Given the description of an element on the screen output the (x, y) to click on. 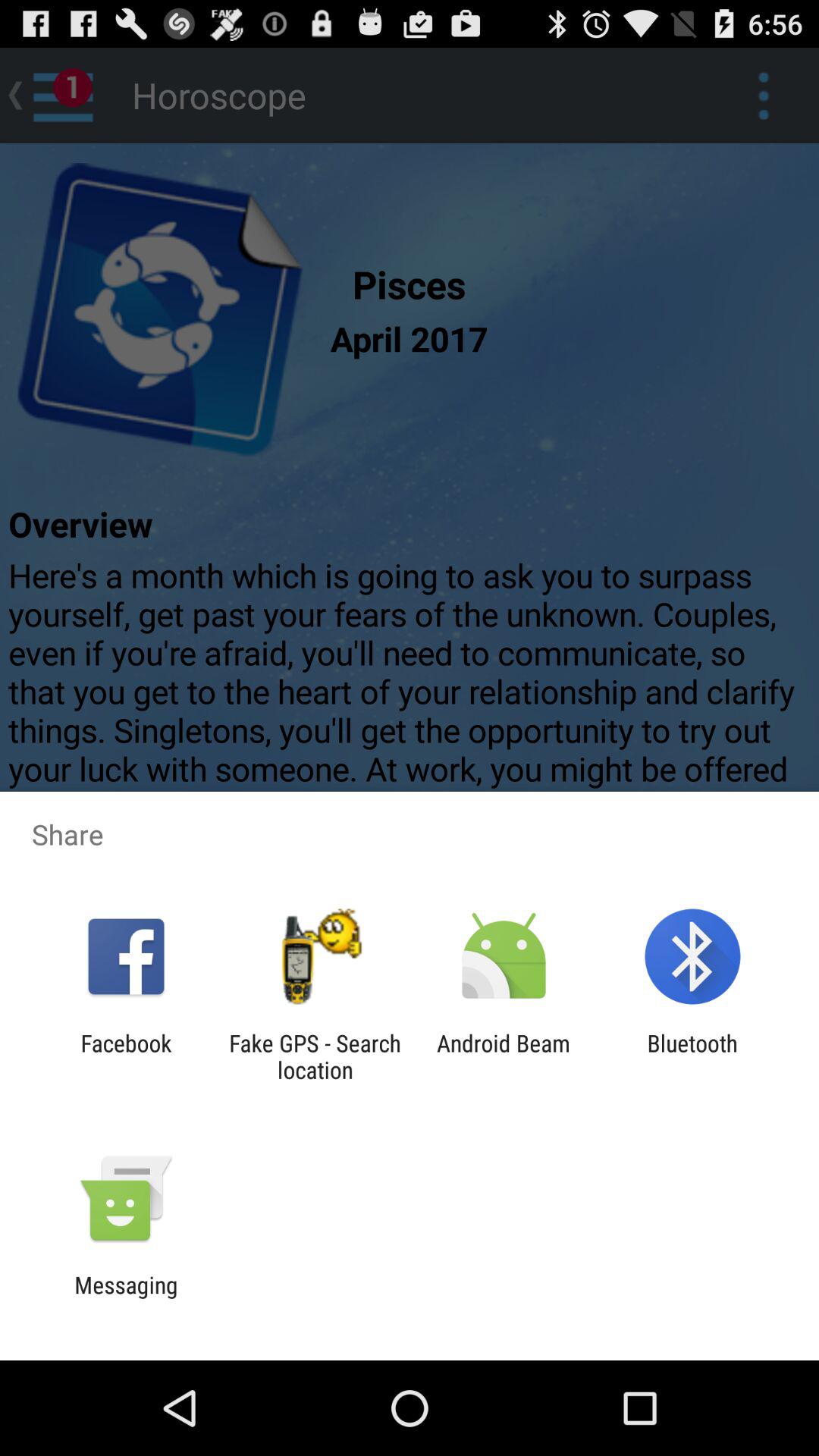
open the icon at the bottom right corner (692, 1056)
